Given the description of an element on the screen output the (x, y) to click on. 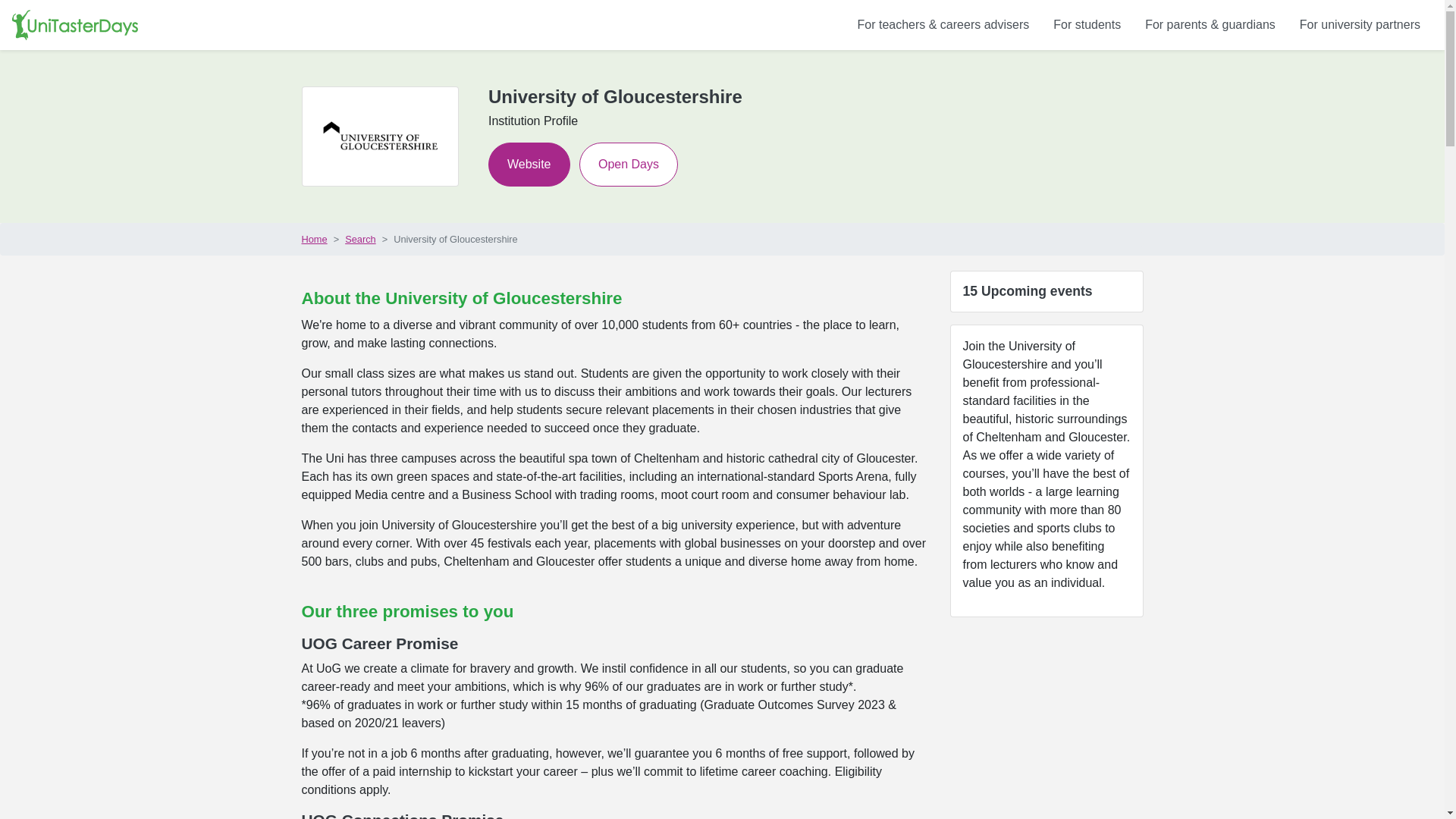
Website (528, 164)
Open Days (628, 164)
For students (1086, 24)
For university partners (1359, 24)
Home (314, 238)
